Given the description of an element on the screen output the (x, y) to click on. 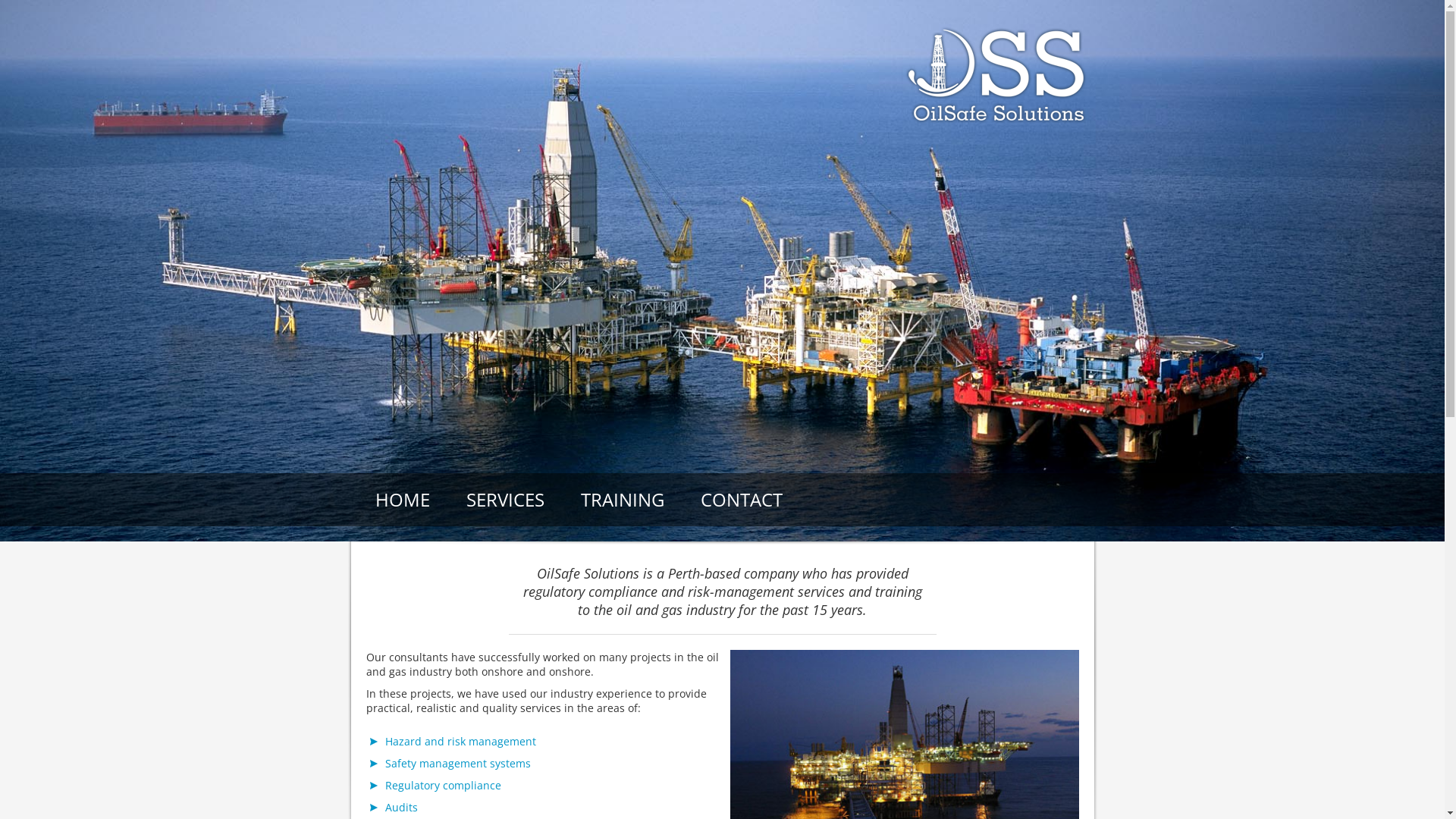
TRAINING Element type: text (622, 499)
HOME Element type: text (401, 499)
CONTACT Element type: text (741, 499)
Safety management systems Element type: text (457, 763)
SERVICES Element type: text (504, 499)
Regulatory compliance Element type: text (443, 785)
Audits Element type: text (401, 807)
Hazard and risk management Element type: text (460, 741)
